Given the description of an element on the screen output the (x, y) to click on. 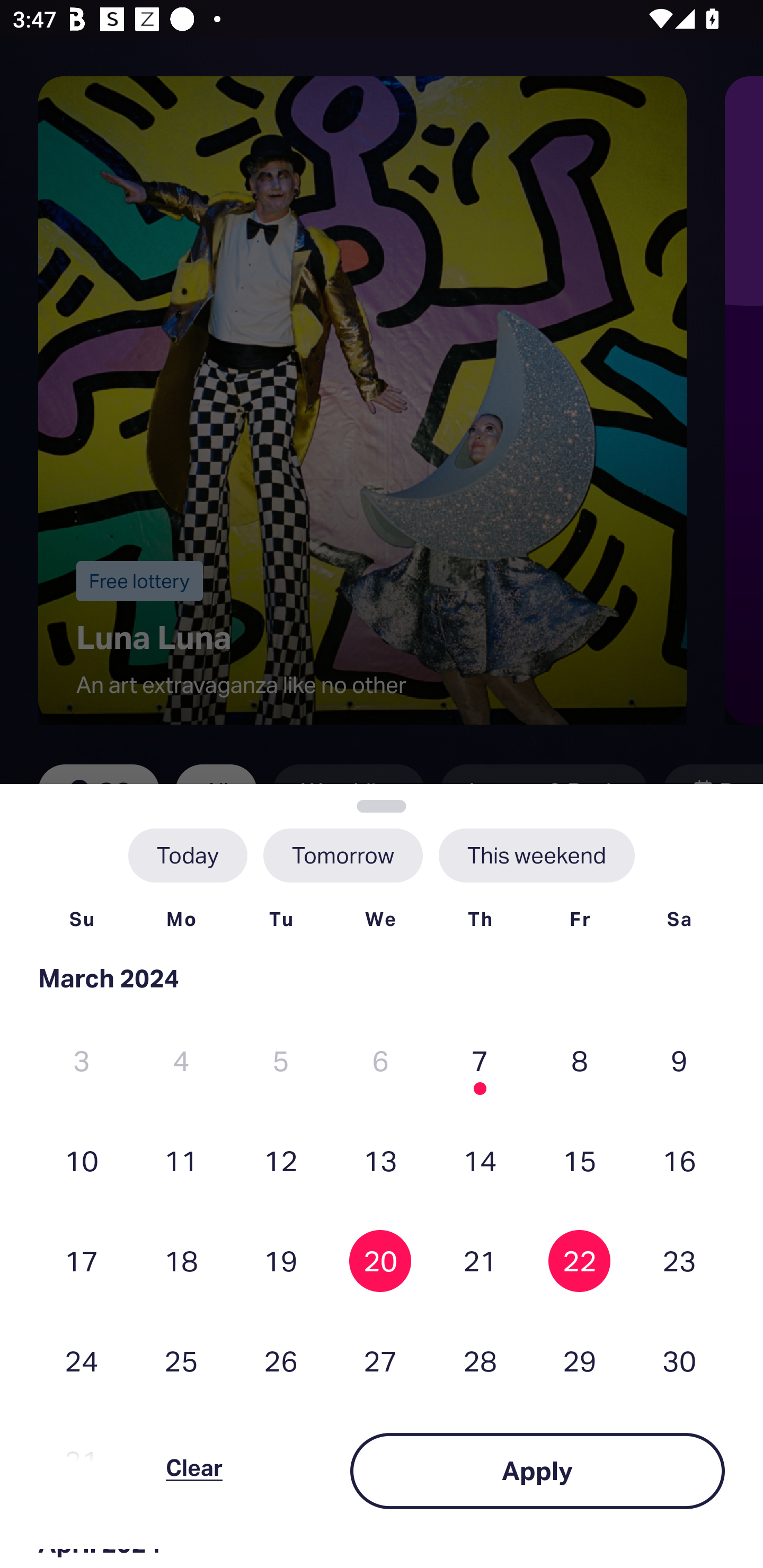
Today (187, 854)
Tomorrow (342, 854)
This weekend (536, 854)
3 (81, 1060)
4 (181, 1060)
5 (280, 1060)
6 (380, 1060)
7 (479, 1060)
8 (579, 1060)
9 (678, 1060)
10 (81, 1160)
11 (181, 1160)
12 (280, 1160)
13 (380, 1160)
14 (479, 1160)
15 (579, 1160)
16 (678, 1160)
17 (81, 1260)
18 (181, 1260)
19 (280, 1260)
20 (380, 1260)
21 (479, 1260)
22 (579, 1260)
23 (678, 1260)
24 (81, 1360)
25 (181, 1360)
26 (280, 1360)
27 (380, 1360)
28 (479, 1360)
29 (579, 1360)
30 (678, 1360)
Clear (194, 1470)
Apply (537, 1470)
